Given the description of an element on the screen output the (x, y) to click on. 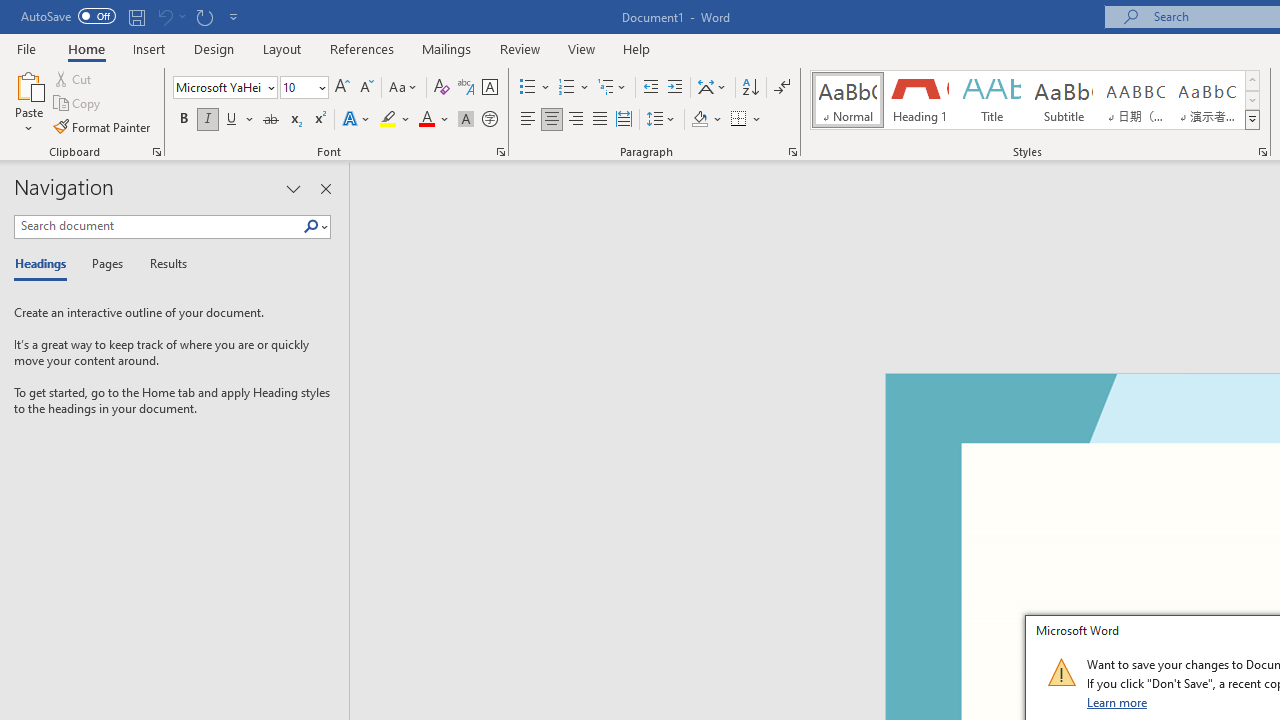
Learn more (1118, 702)
